Given the description of an element on the screen output the (x, y) to click on. 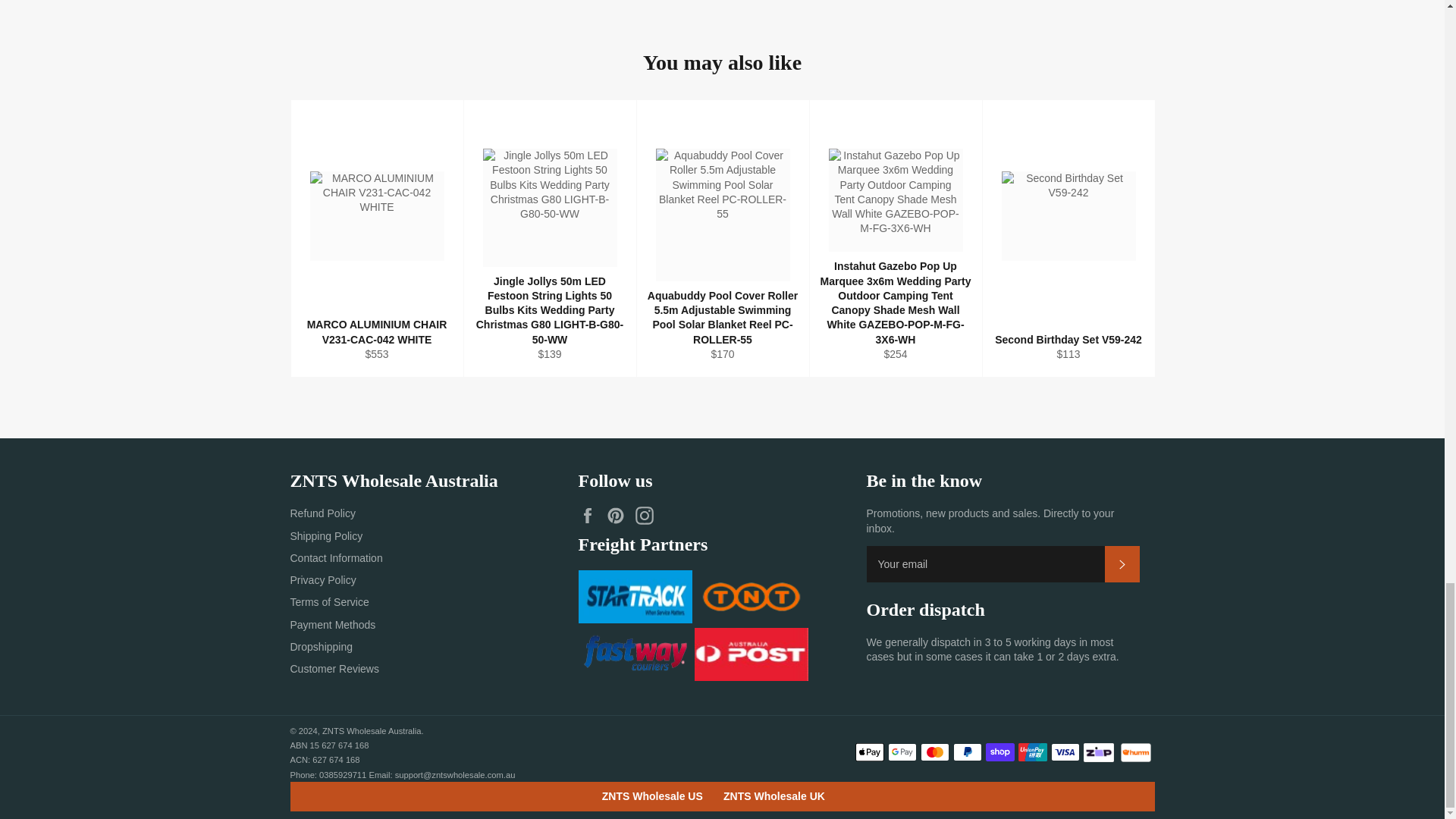
ZNTS Wholesale Australia on Instagram (647, 515)
ZNTS Wholesale Australia on Facebook (591, 515)
ZNTS Wholesale Australia on Pinterest (619, 515)
